Given the description of an element on the screen output the (x, y) to click on. 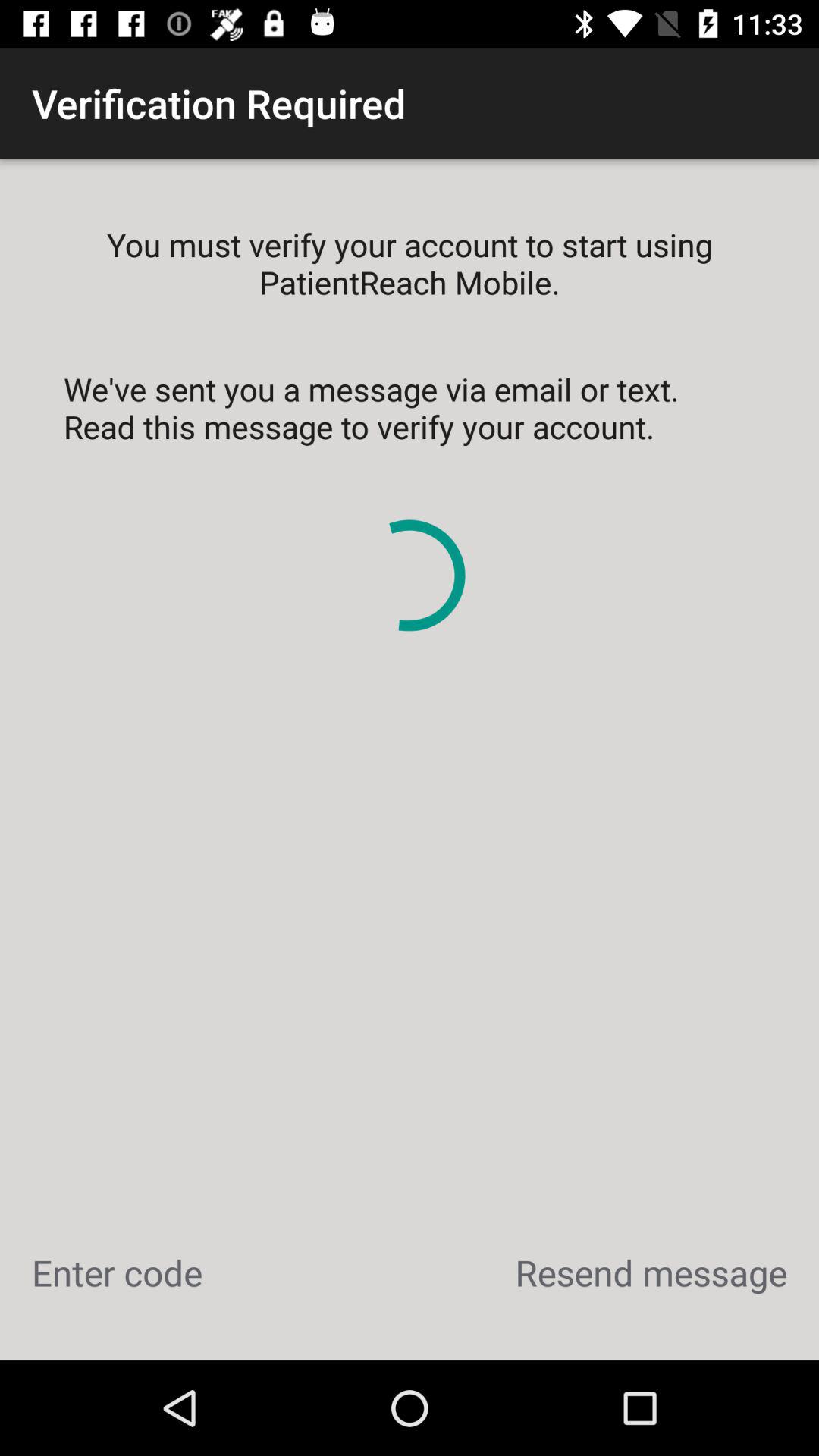
choose the item below we ve sent item (116, 1272)
